Given the description of an element on the screen output the (x, y) to click on. 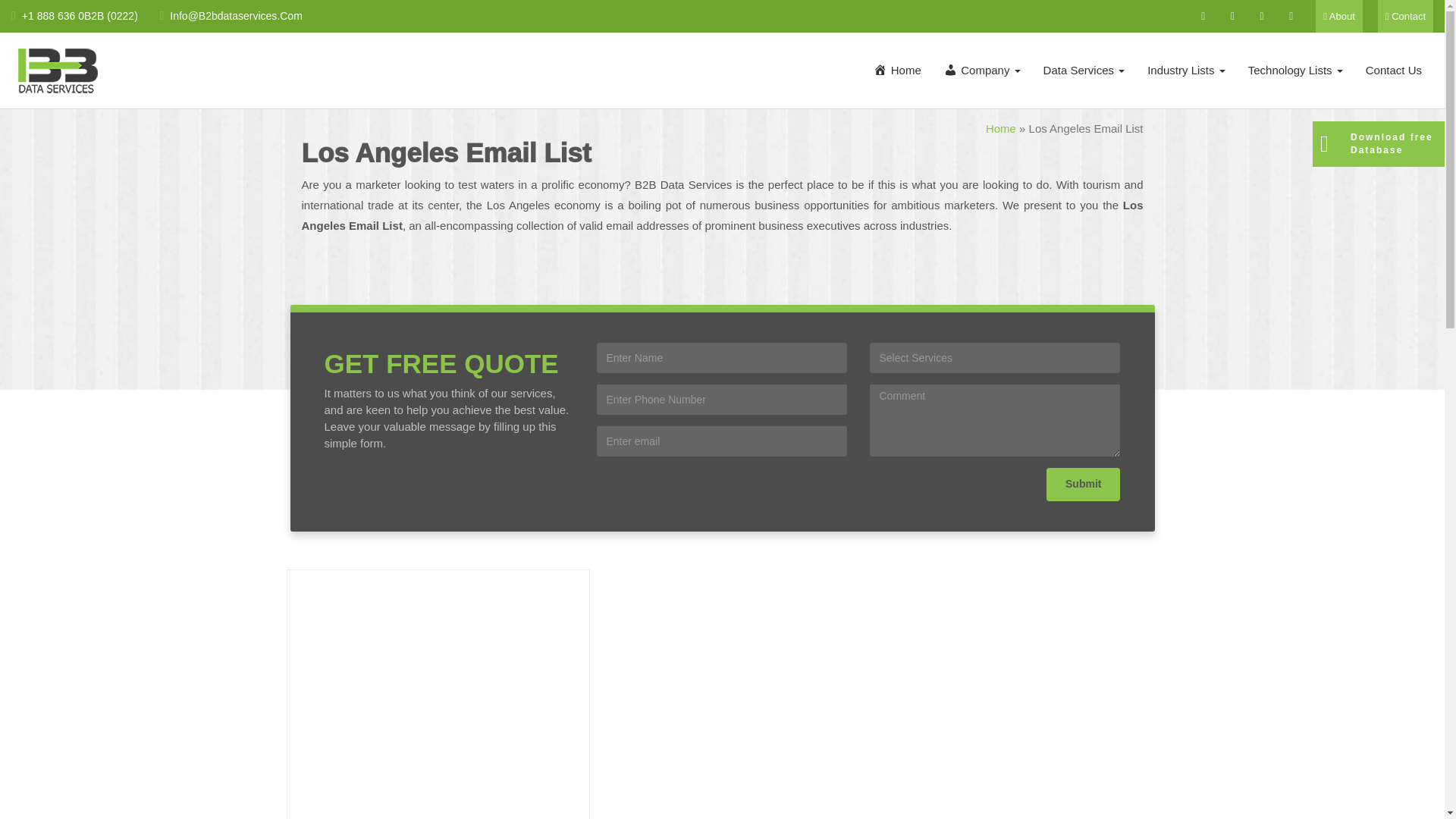
Home (897, 69)
Data Services (1084, 69)
b2bdataservices (57, 70)
Home (897, 69)
Company (982, 69)
Contact (1404, 16)
About (1339, 16)
Data Services (1084, 69)
Company (982, 69)
